Given the description of an element on the screen output the (x, y) to click on. 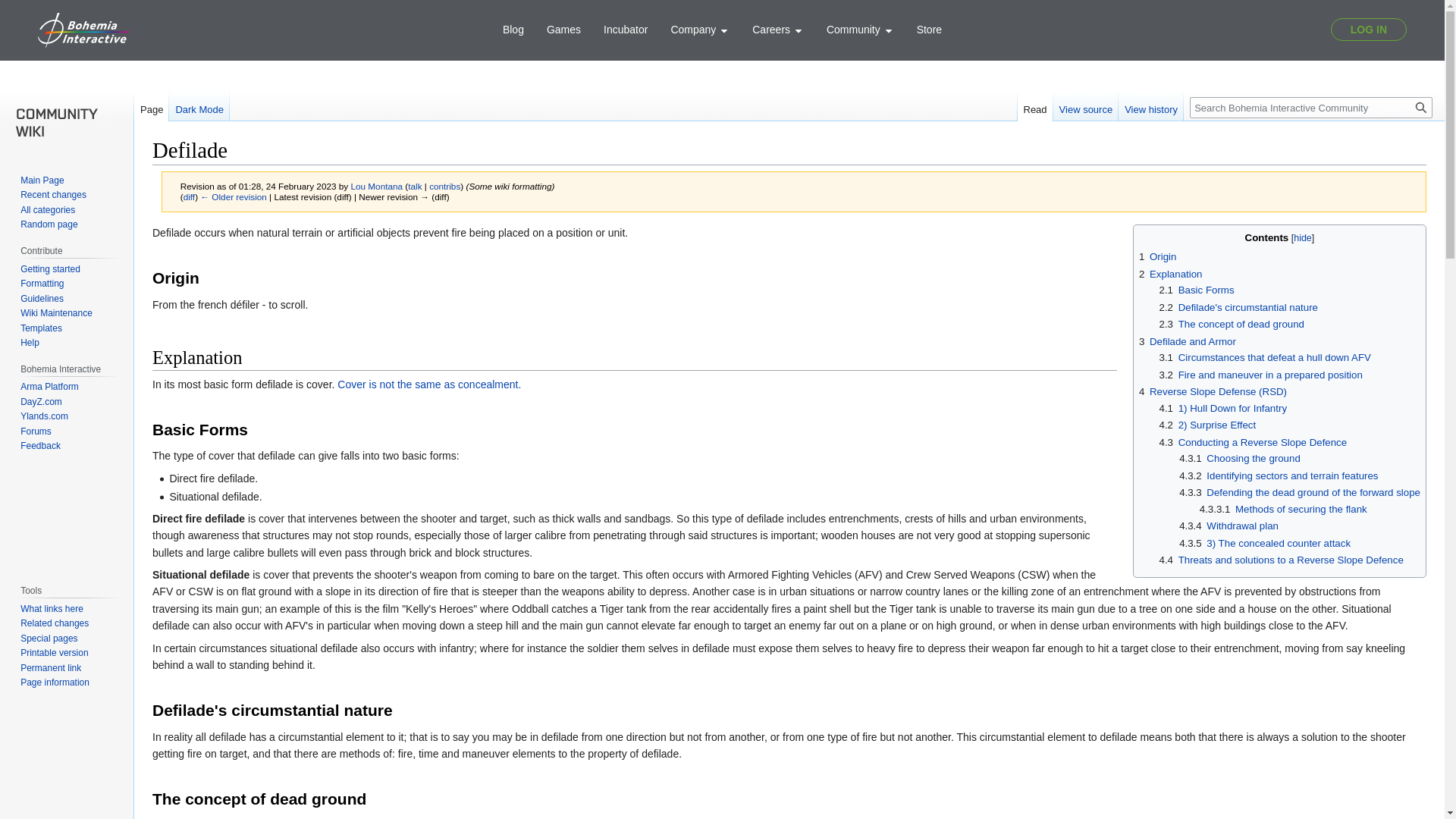
Use Dark Mode (199, 105)
User talk:Lou Montana (414, 185)
2.3 The concept of dead ground (1231, 324)
Search the pages for this text (1420, 107)
1 Origin (1157, 256)
Search (1420, 107)
Defilade (233, 196)
Defilade (189, 196)
2 Explanation (1170, 274)
diff (189, 196)
talk (414, 185)
Go (1420, 107)
Lou Montana (376, 185)
Company (700, 29)
